Given the description of an element on the screen output the (x, y) to click on. 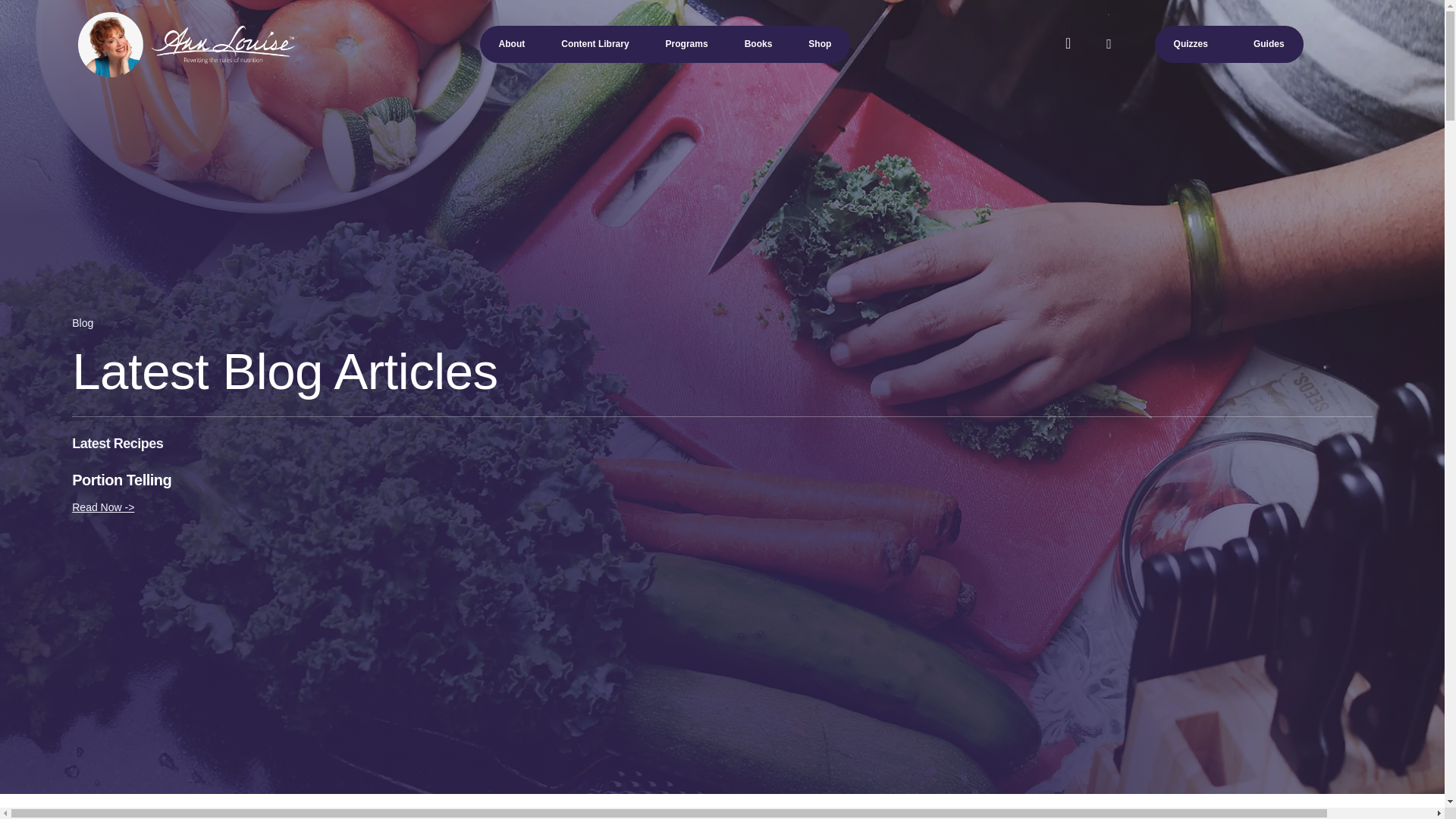
Content Library (594, 43)
About (511, 43)
Books (758, 43)
Shop (819, 43)
Programs (686, 43)
